Given the description of an element on the screen output the (x, y) to click on. 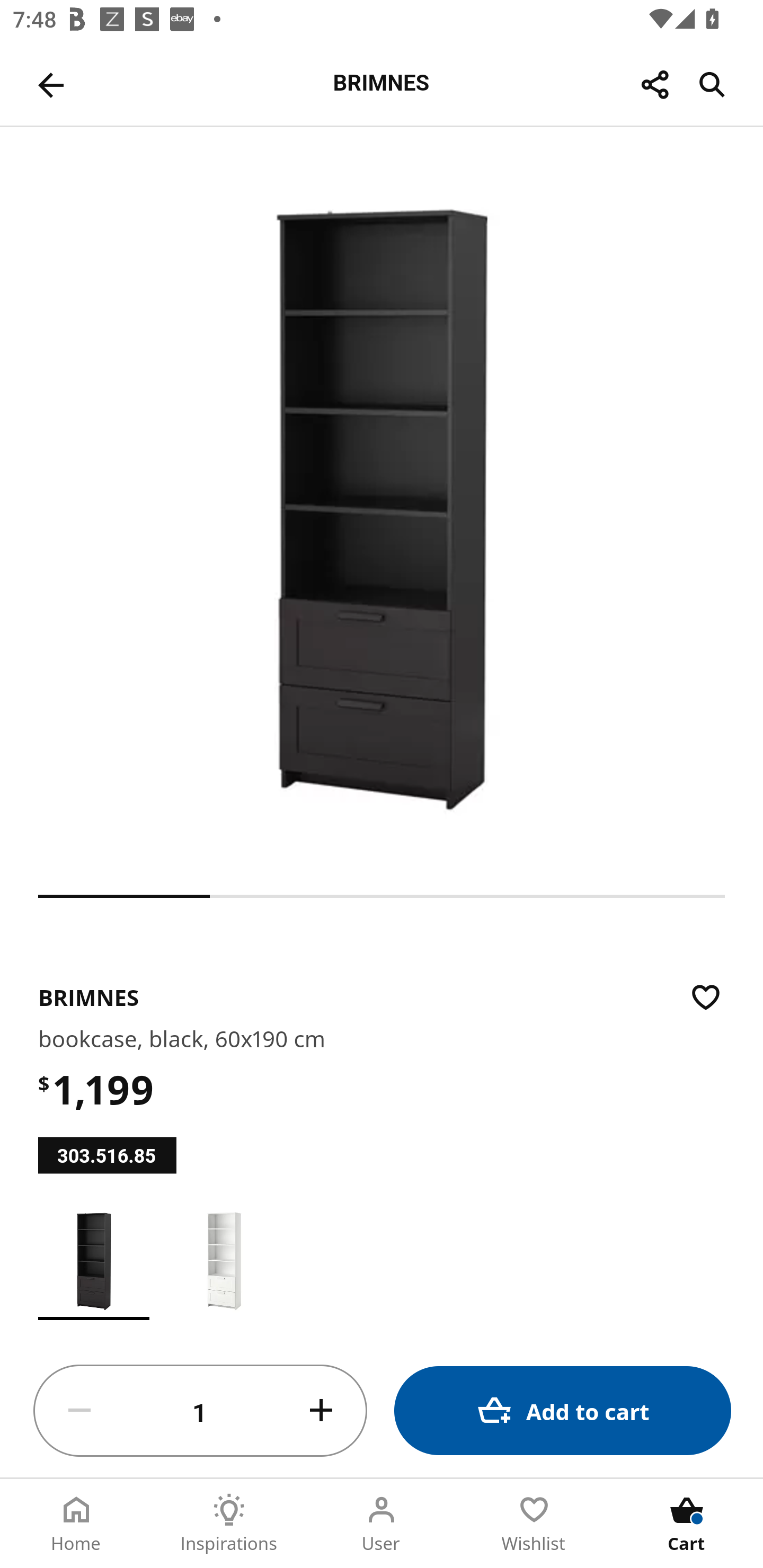
Add to cart (562, 1410)
1 (200, 1411)
Home
Tab 1 of 5 (76, 1522)
Inspirations
Tab 2 of 5 (228, 1522)
User
Tab 3 of 5 (381, 1522)
Wishlist
Tab 4 of 5 (533, 1522)
Cart
Tab 5 of 5 (686, 1522)
